Given the description of an element on the screen output the (x, y) to click on. 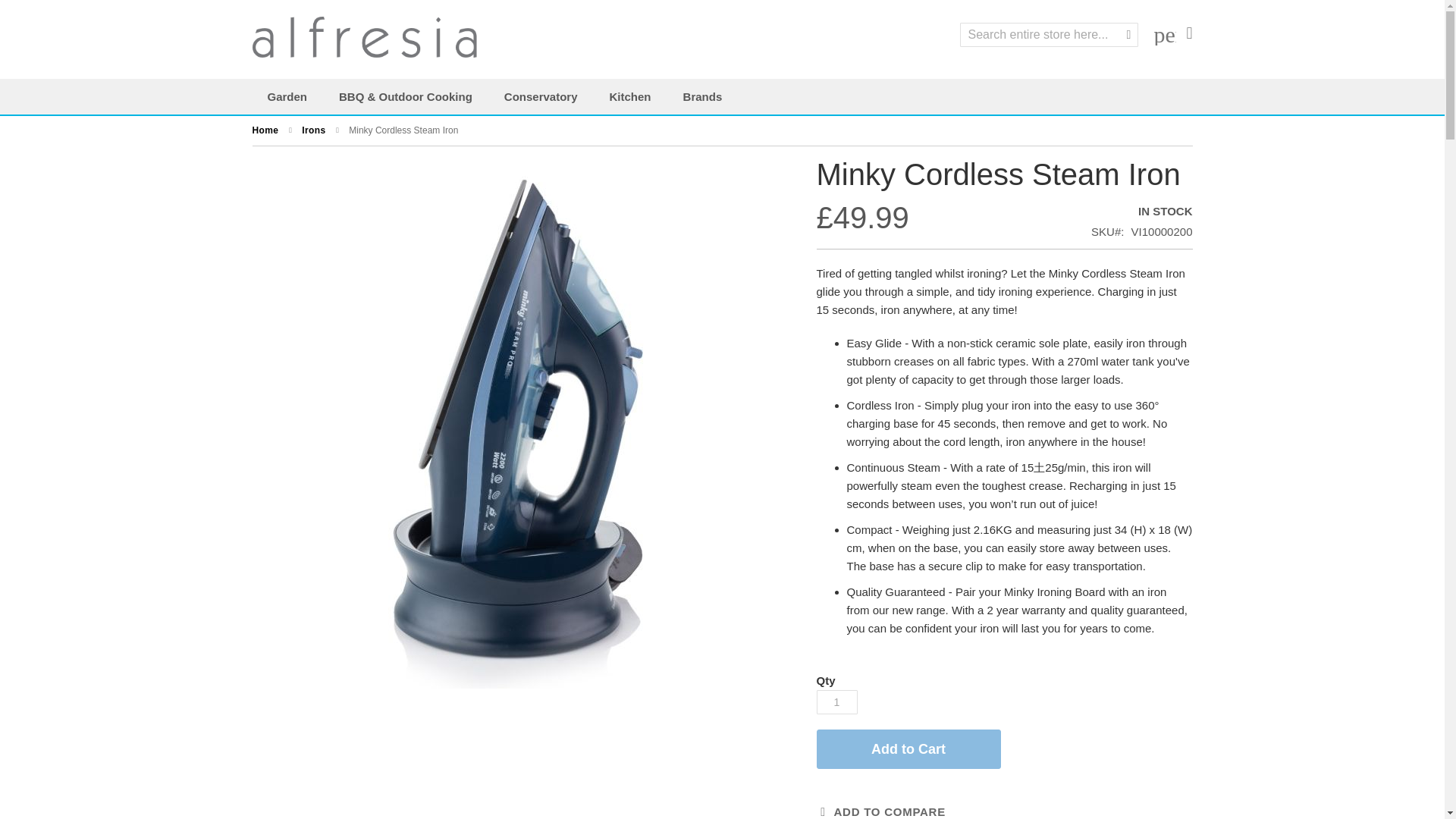
Qty (836, 702)
Sign In (1164, 33)
Go to Home Page (266, 130)
Add to Cart (907, 749)
1 (836, 702)
Conservatory (543, 96)
Alfresia (365, 37)
Availability (1141, 211)
Garden (289, 96)
